Given the description of an element on the screen output the (x, y) to click on. 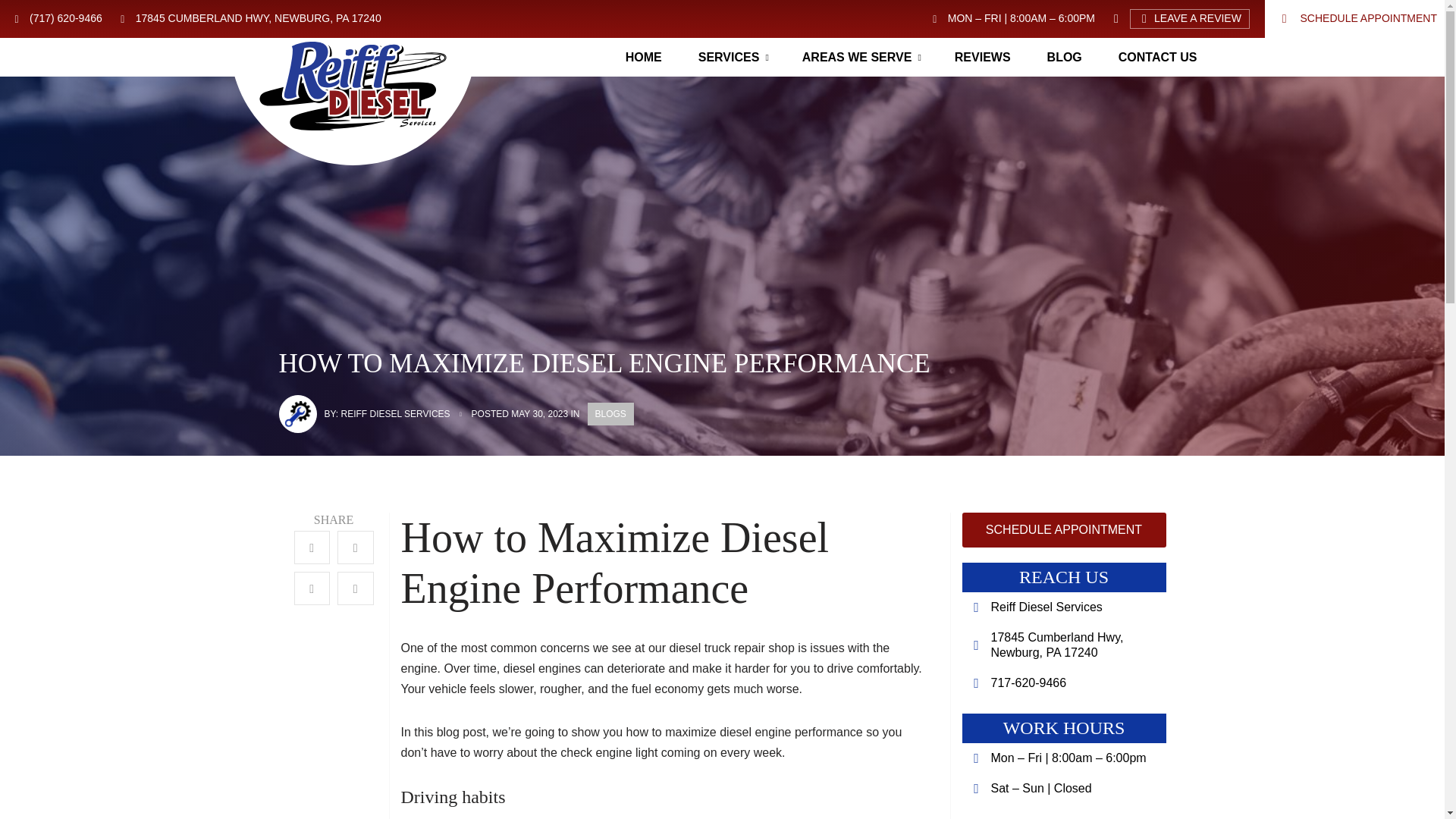
LEAVE A REVIEW (1189, 18)
Share on facebook-f (312, 547)
REVIEWS (982, 56)
Share on twitter (355, 547)
HOME (643, 56)
Share on pinterest-p (355, 588)
CONTACT US (1157, 56)
BLOG (1064, 56)
AREAS WE SERVE (860, 56)
17845 CUMBERLAND HWY, NEWBURG, PA 17240 (249, 18)
Share on linkedin-in (312, 588)
SERVICES (731, 56)
